Given the description of an element on the screen output the (x, y) to click on. 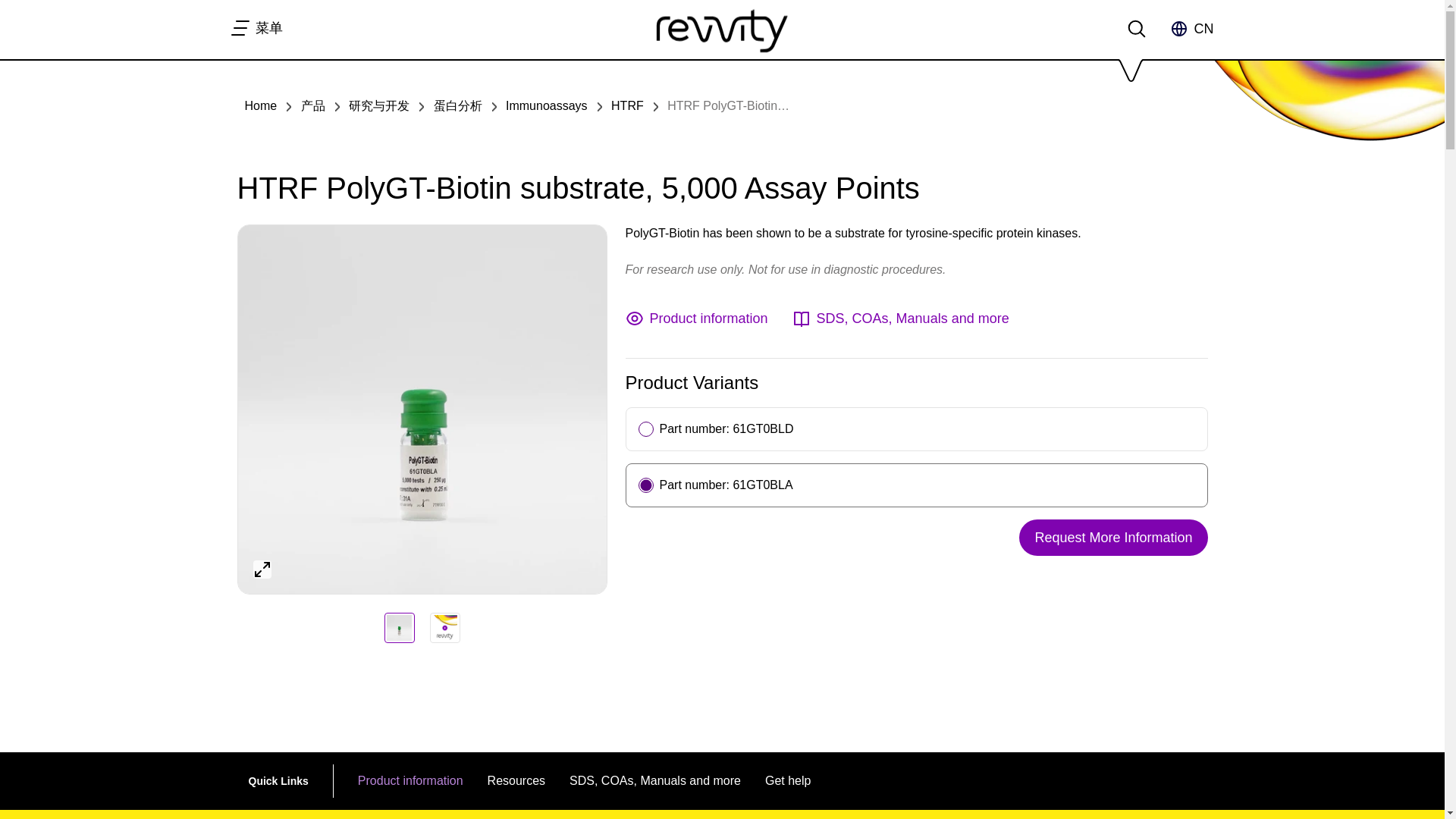
HTRF PolyGT-Biotin substrate, 5,000 Assay Points (803, 105)
Immunoassays (546, 105)
HTRF (627, 105)
PolyGT-Biotin HTRF substrate (399, 627)
Home (260, 105)
